Given the description of an element on the screen output the (x, y) to click on. 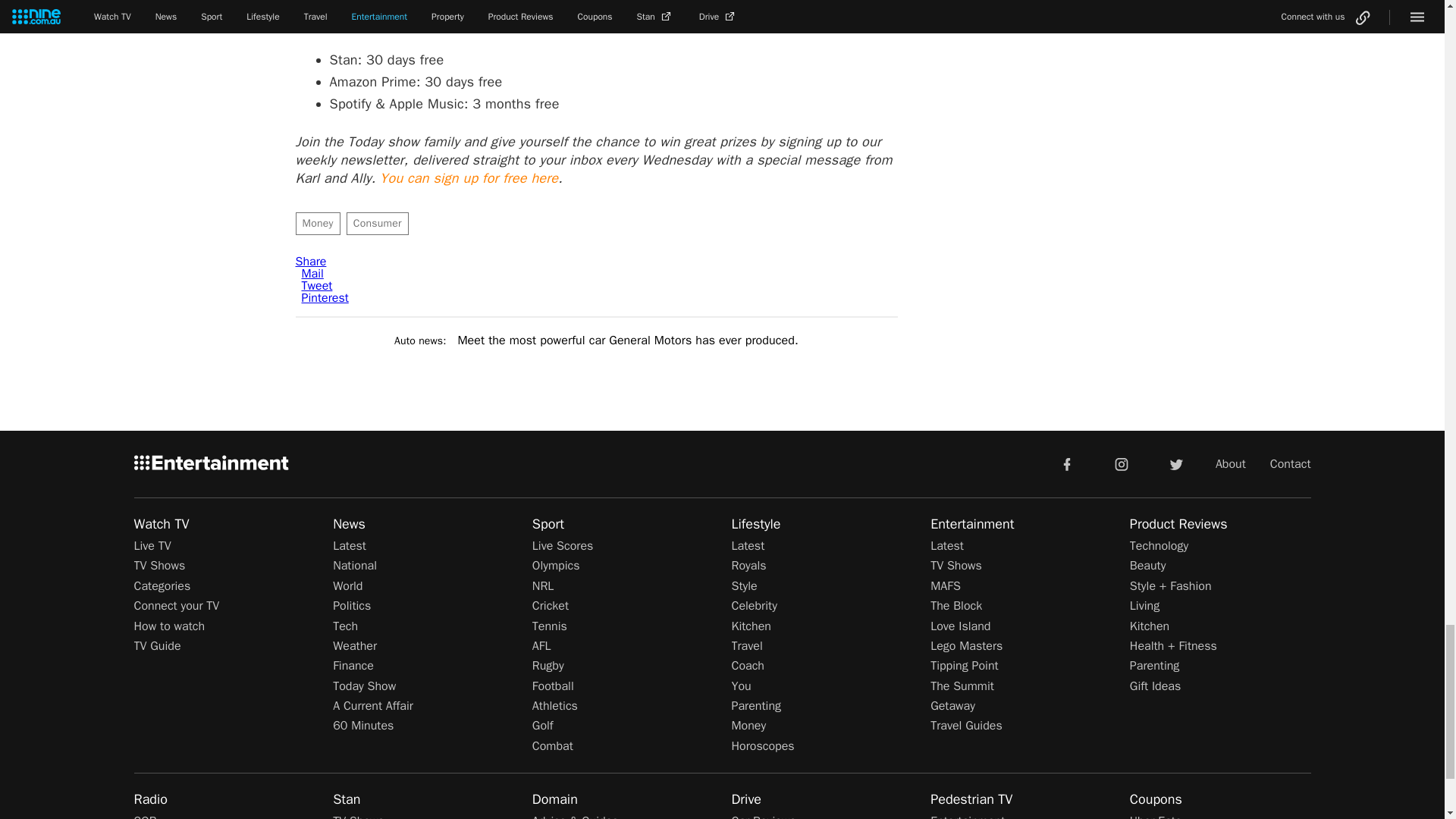
twitter (1175, 462)
Money (317, 223)
Share (310, 261)
facebook (1066, 462)
Consumer (377, 223)
Tweet (317, 285)
Pinterest (325, 297)
You can sign up for free here (468, 177)
Mail (312, 273)
You can sign up for free here. (468, 177)
instagram (1121, 462)
